Given the description of an element on the screen output the (x, y) to click on. 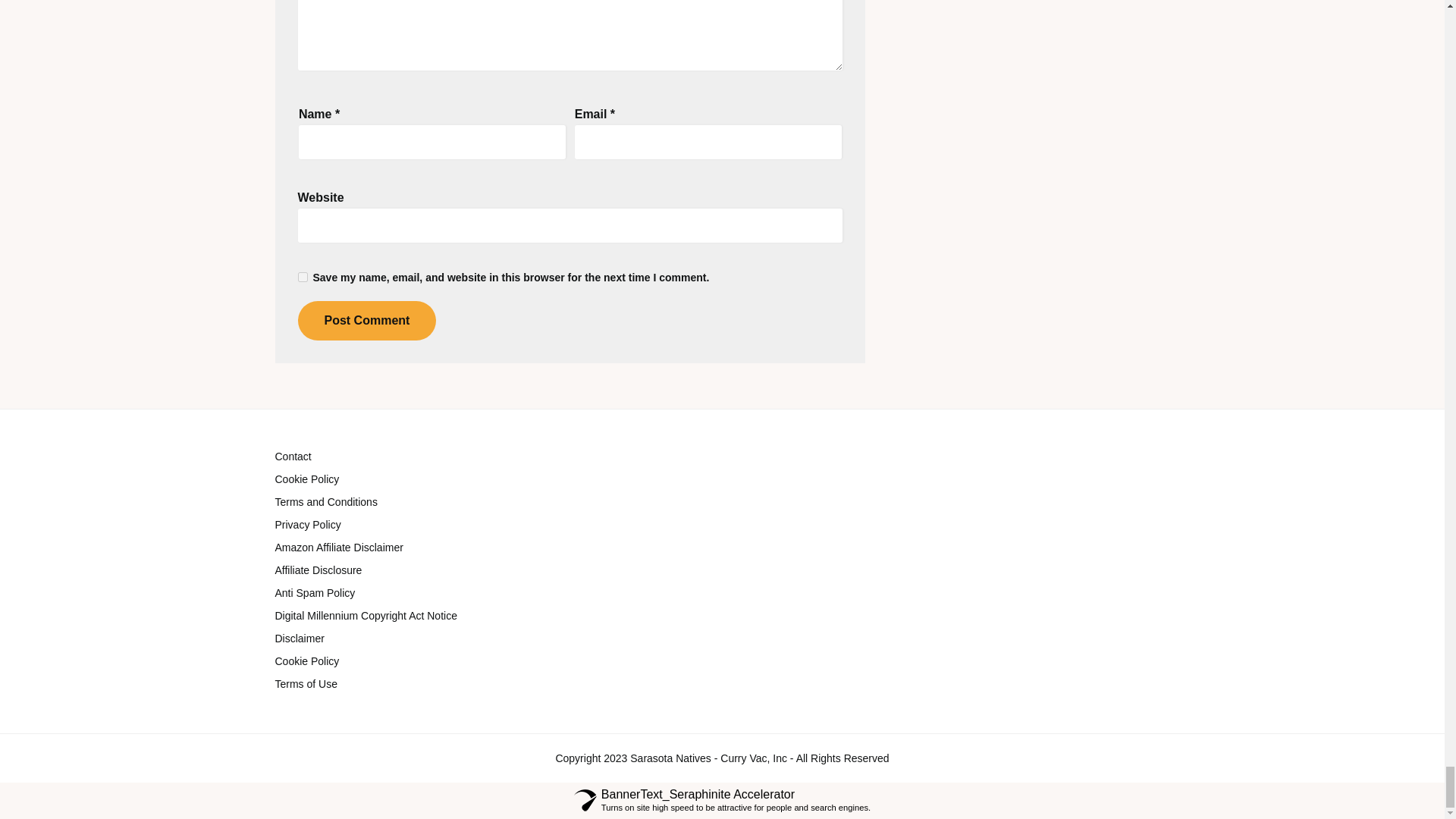
Post Comment (366, 320)
yes (302, 276)
